Given the description of an element on the screen output the (x, y) to click on. 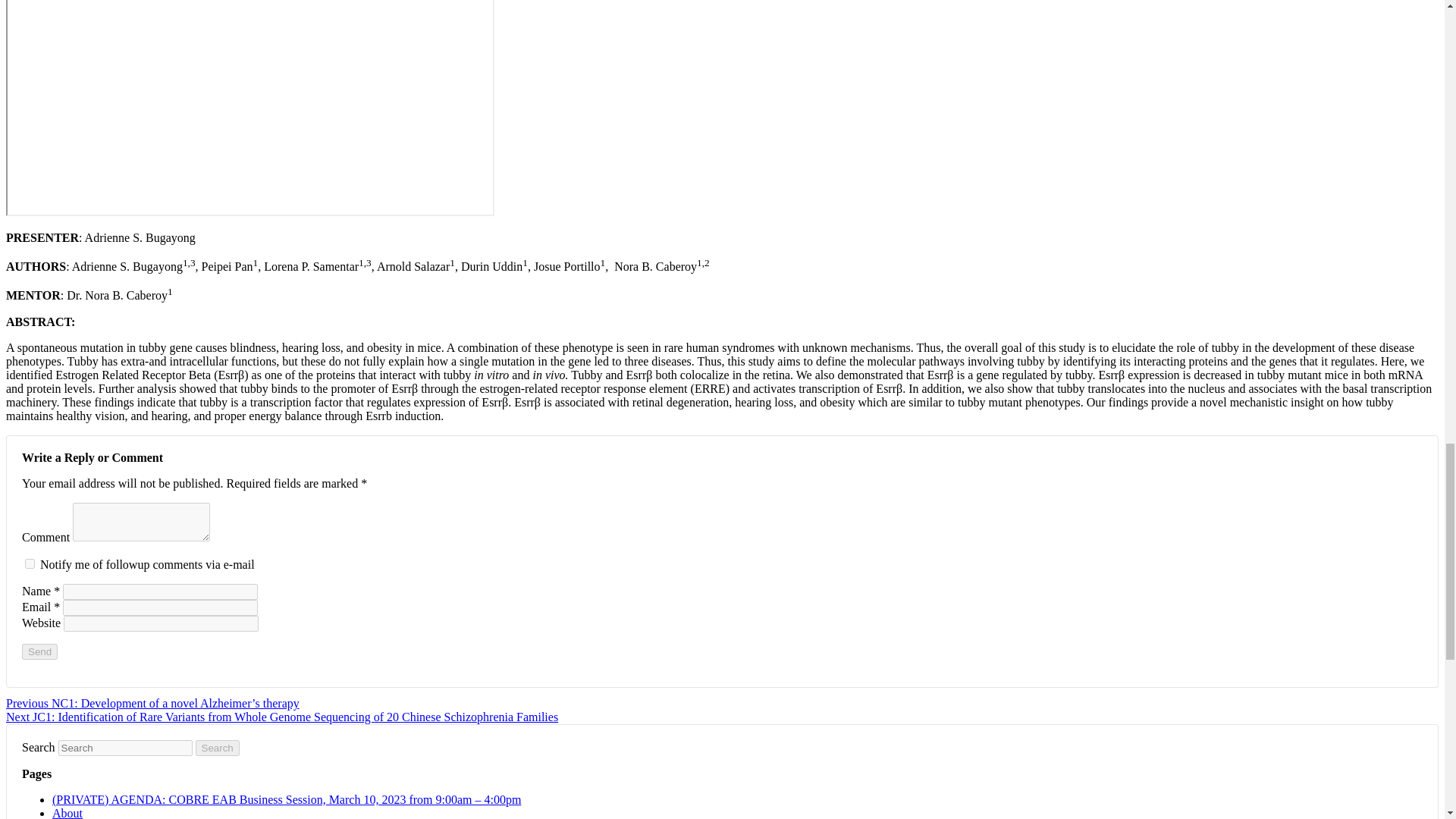
subscribe (29, 563)
Send (39, 651)
Send (39, 651)
Search (217, 747)
